Given the description of an element on the screen output the (x, y) to click on. 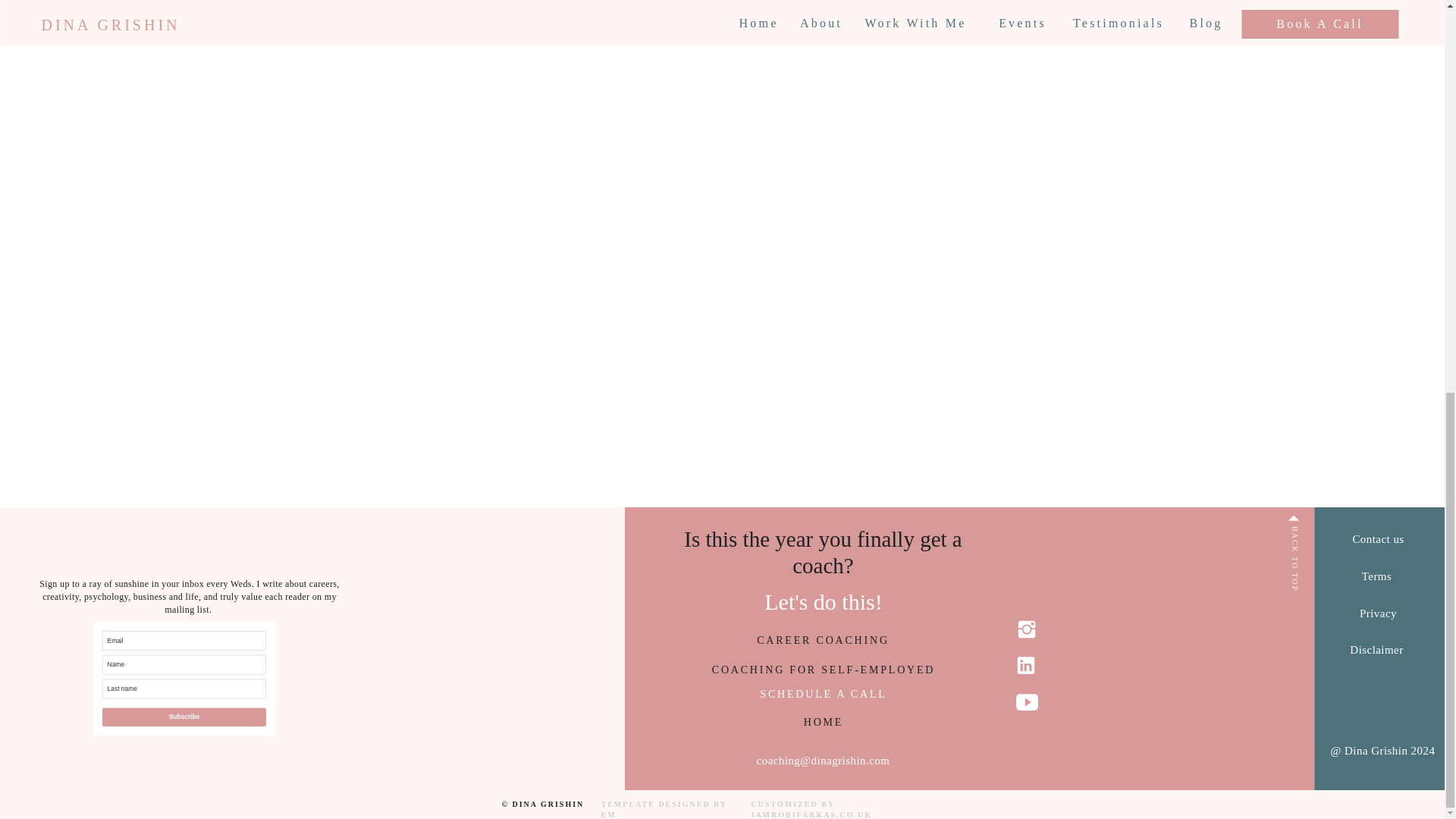
Subscribe (237, 722)
HOME (823, 723)
SCHEDULE A CALL (824, 694)
CAREER COACHING (823, 647)
COACHING FOR SELF-EMPLOYED (822, 679)
BACK TO TOP (1321, 532)
What helps prevent burnout and improves confidence? (461, 2)
